Given the description of an element on the screen output the (x, y) to click on. 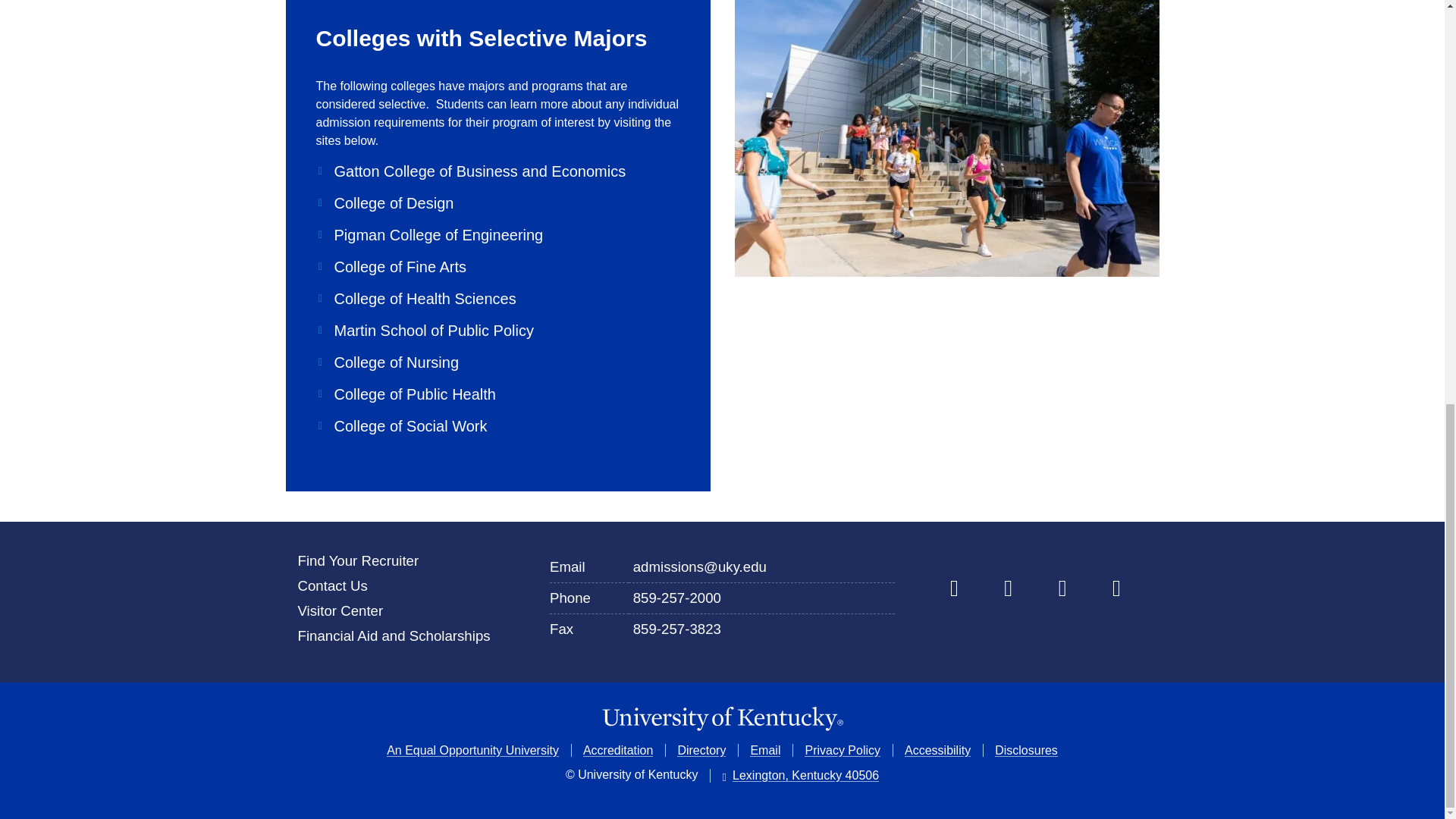
Privacy Policy (842, 749)
Directory (701, 749)
Gatton College of Business and Economics (470, 171)
Visitor Center (339, 610)
College of Fine Arts (390, 266)
Financial Aid and Scholarships (393, 635)
Accreditation (618, 749)
College of Social Work (400, 425)
Find Your Recruiter (358, 560)
Martin School of Public Policy (423, 330)
